Given the description of an element on the screen output the (x, y) to click on. 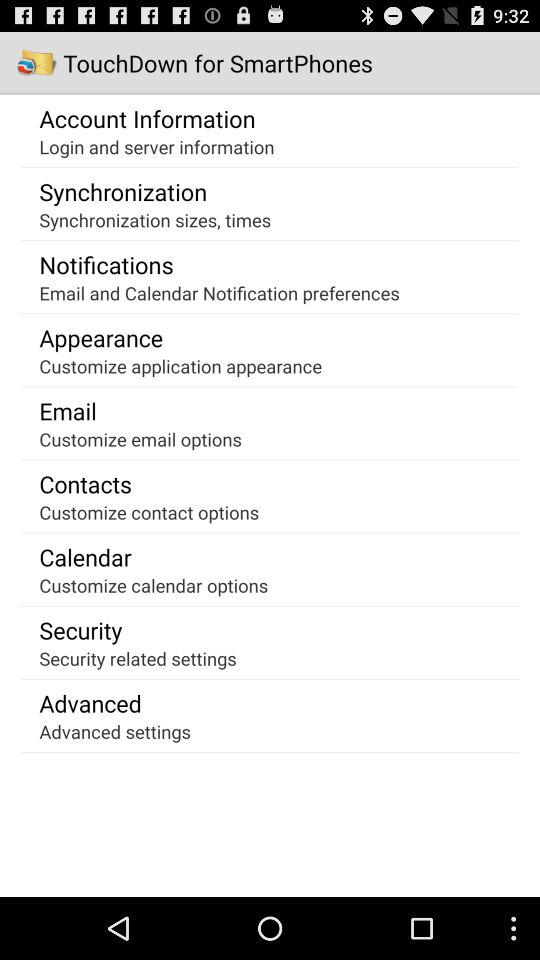
launch app below the synchronization (155, 219)
